Given the description of an element on the screen output the (x, y) to click on. 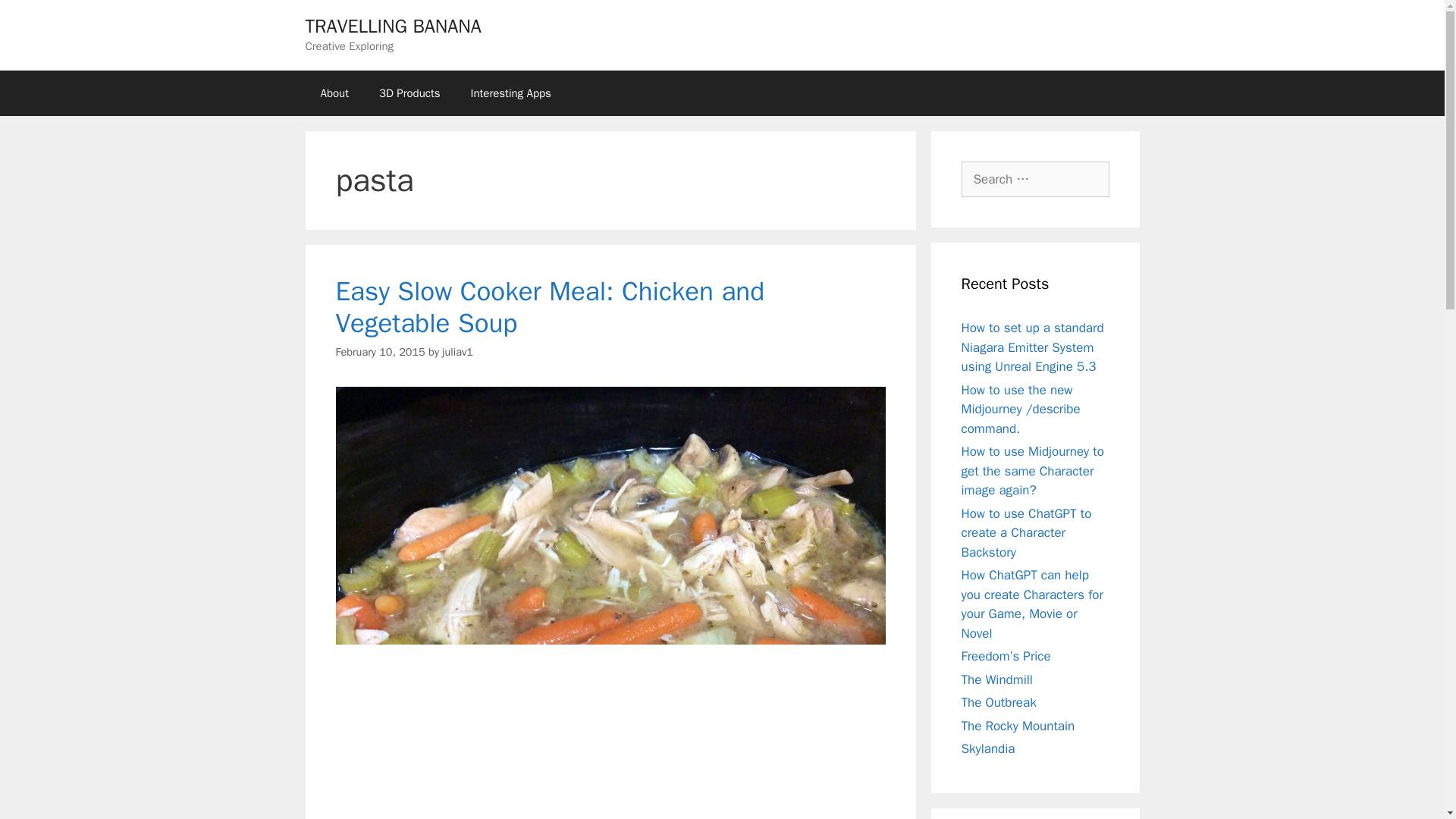
Interesting Apps (510, 92)
juliav1 (457, 351)
TRAVELLING BANANA (392, 25)
View all posts by juliav1 (457, 351)
The Outbreak (998, 702)
How to use ChatGPT to create a Character Backstory (1026, 532)
About (333, 92)
Search for: (1034, 178)
